Given the description of an element on the screen output the (x, y) to click on. 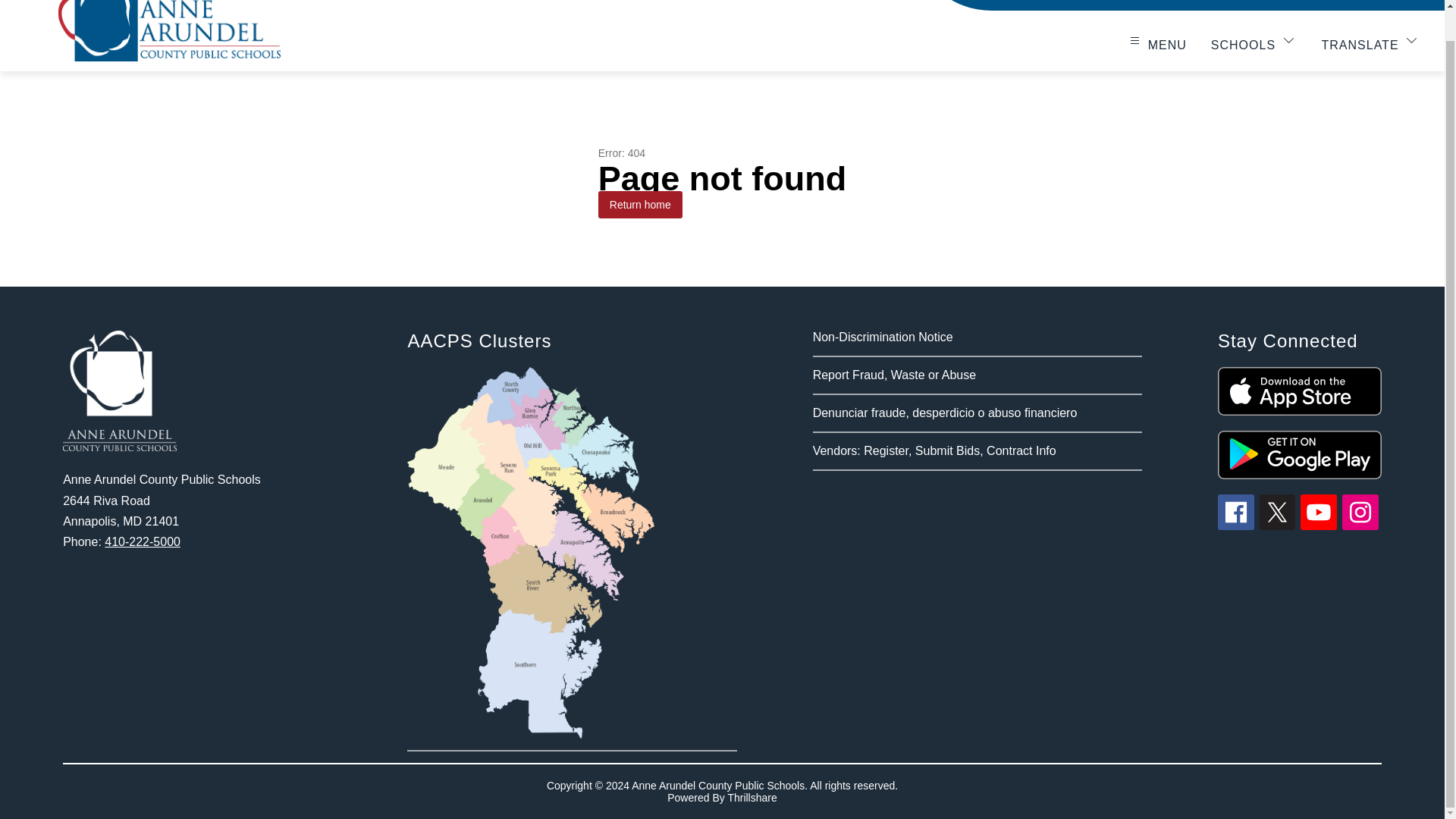
Vendors: Register, Submit Bids, Contract Info (934, 450)
About AACPS (1031, 5)
Join Our Team (1137, 5)
Contact Us (1352, 5)
410-222-5000 (142, 541)
TRANSLATE (1370, 42)
Return home (640, 204)
Thrillshare (751, 797)
MENU (1155, 42)
SEARCH (1414, 5)
